Given the description of an element on the screen output the (x, y) to click on. 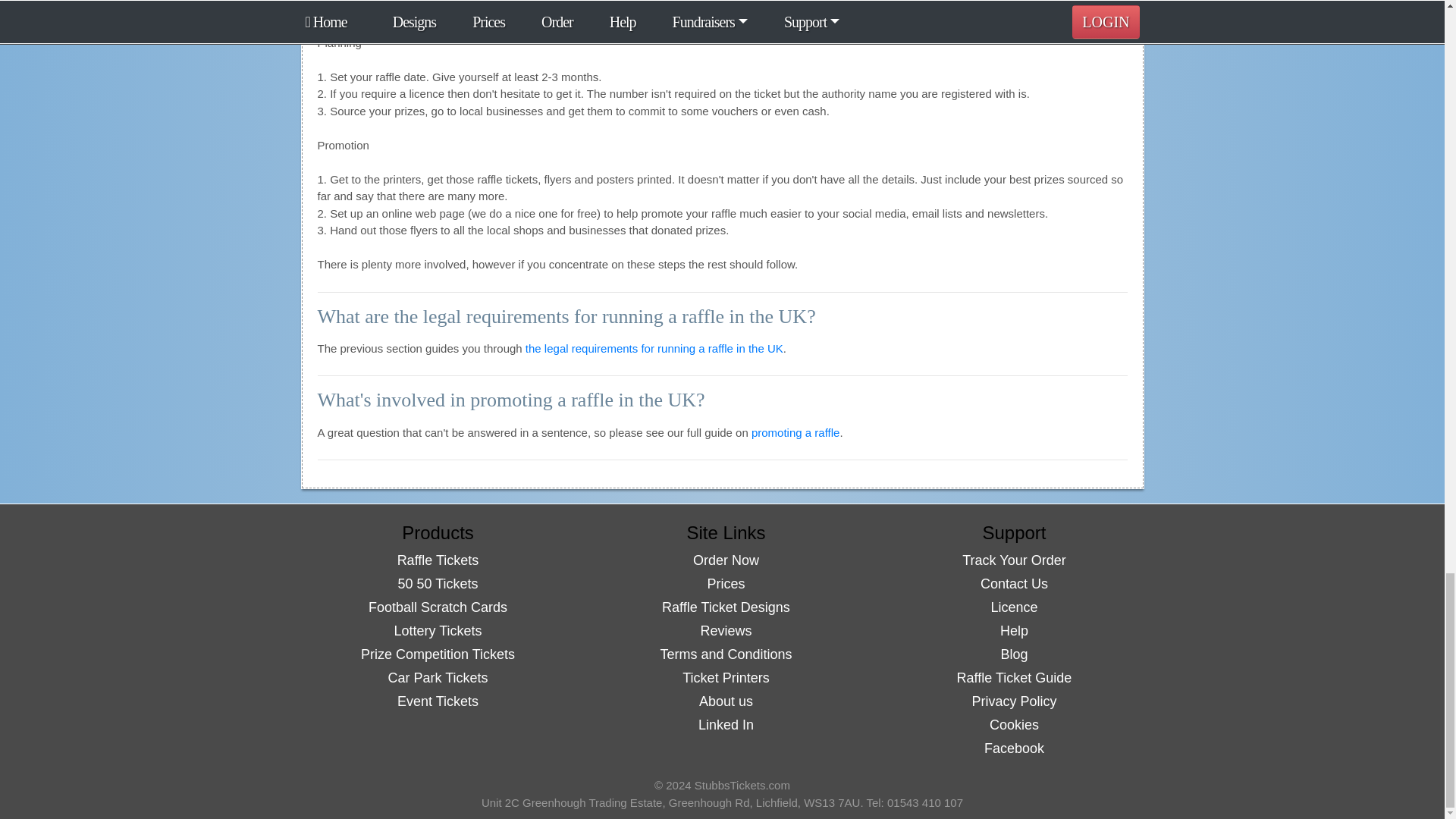
50 50 Tickets (437, 583)
Football Scratch Cards (437, 607)
promoting a raffle (795, 431)
Prize Competition Tickets (438, 654)
Raffle Tickets (438, 560)
the legal requirements for running a raffle in the UK (654, 348)
Products (437, 532)
Lottery Tickets (437, 630)
